Given the description of an element on the screen output the (x, y) to click on. 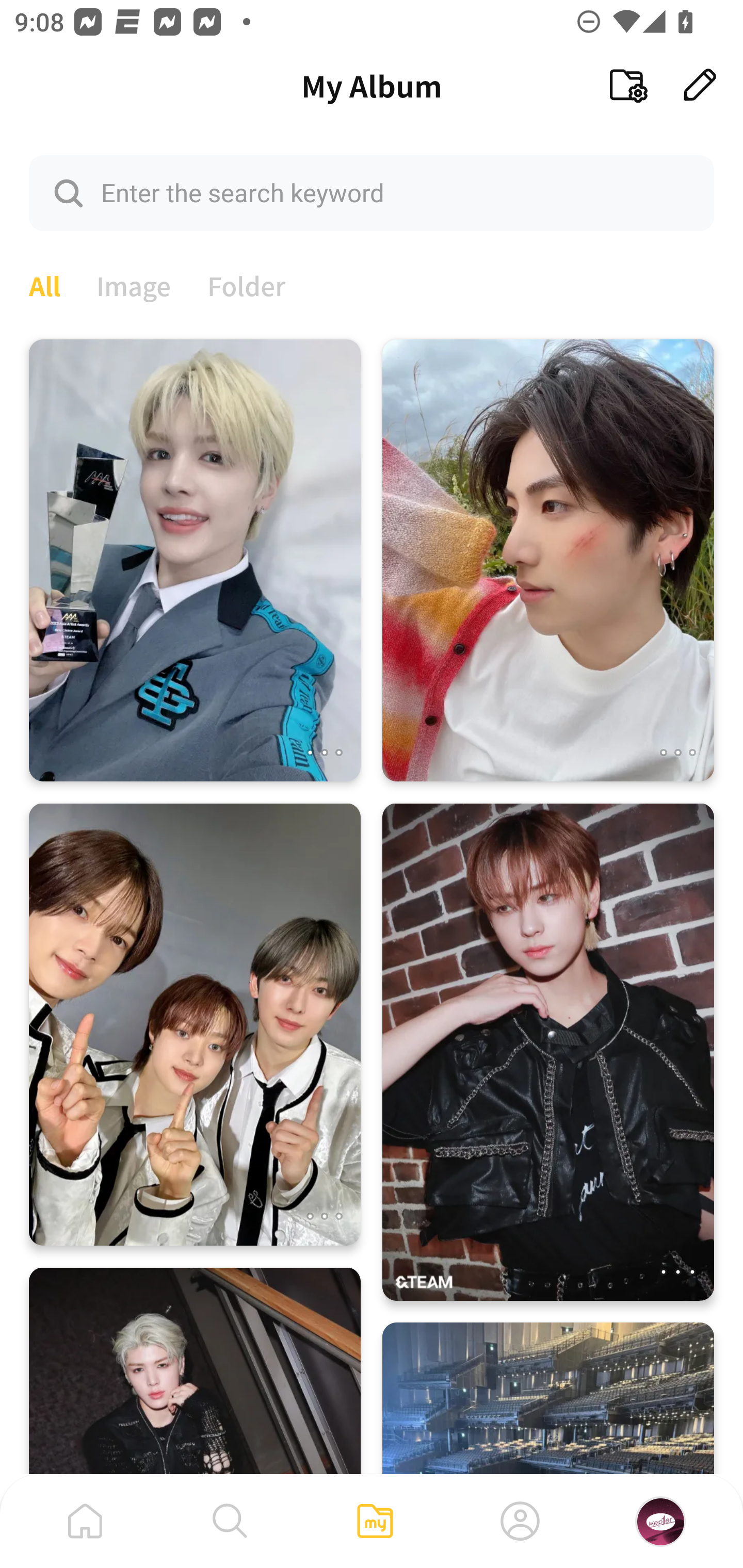
Enter the search keyword (371, 192)
All (44, 284)
Image (133, 284)
Folder (246, 284)
